Given the description of an element on the screen output the (x, y) to click on. 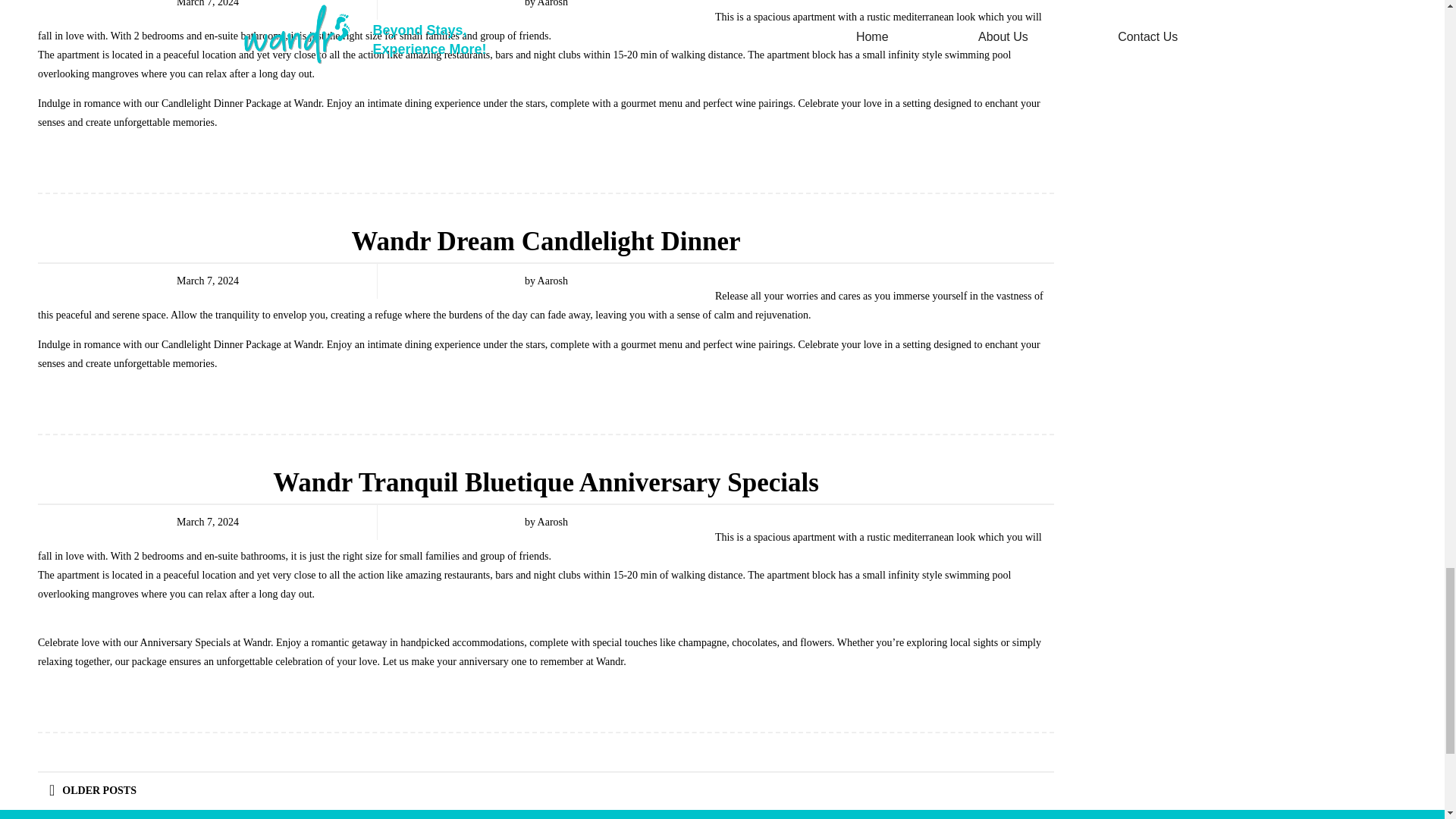
OLDER POSTS (92, 790)
Wandr Dream Candlelight Dinner (544, 241)
Wandr Tranquil Bluetique Anniversary Specials (545, 482)
